Given the description of an element on the screen output the (x, y) to click on. 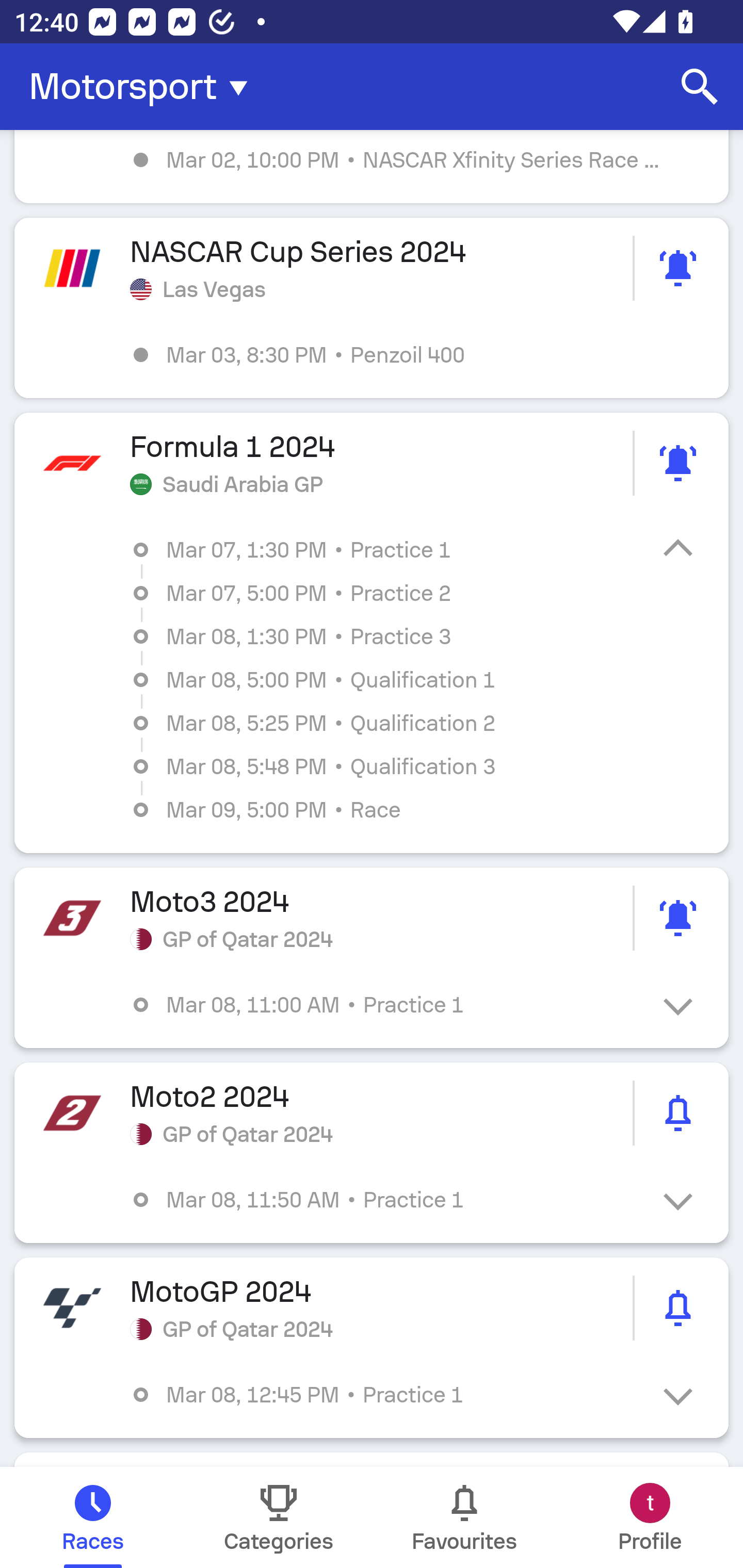
Motorsport (144, 86)
Search (699, 86)
Mar 08, 11:00 AM • Practice 1 (385, 1004)
Mar 08, 11:50 AM • Practice 1 (385, 1200)
Mar 08, 12:45 PM • Practice 1 (385, 1394)
Categories (278, 1517)
Favourites (464, 1517)
Profile (650, 1517)
